Given the description of an element on the screen output the (x, y) to click on. 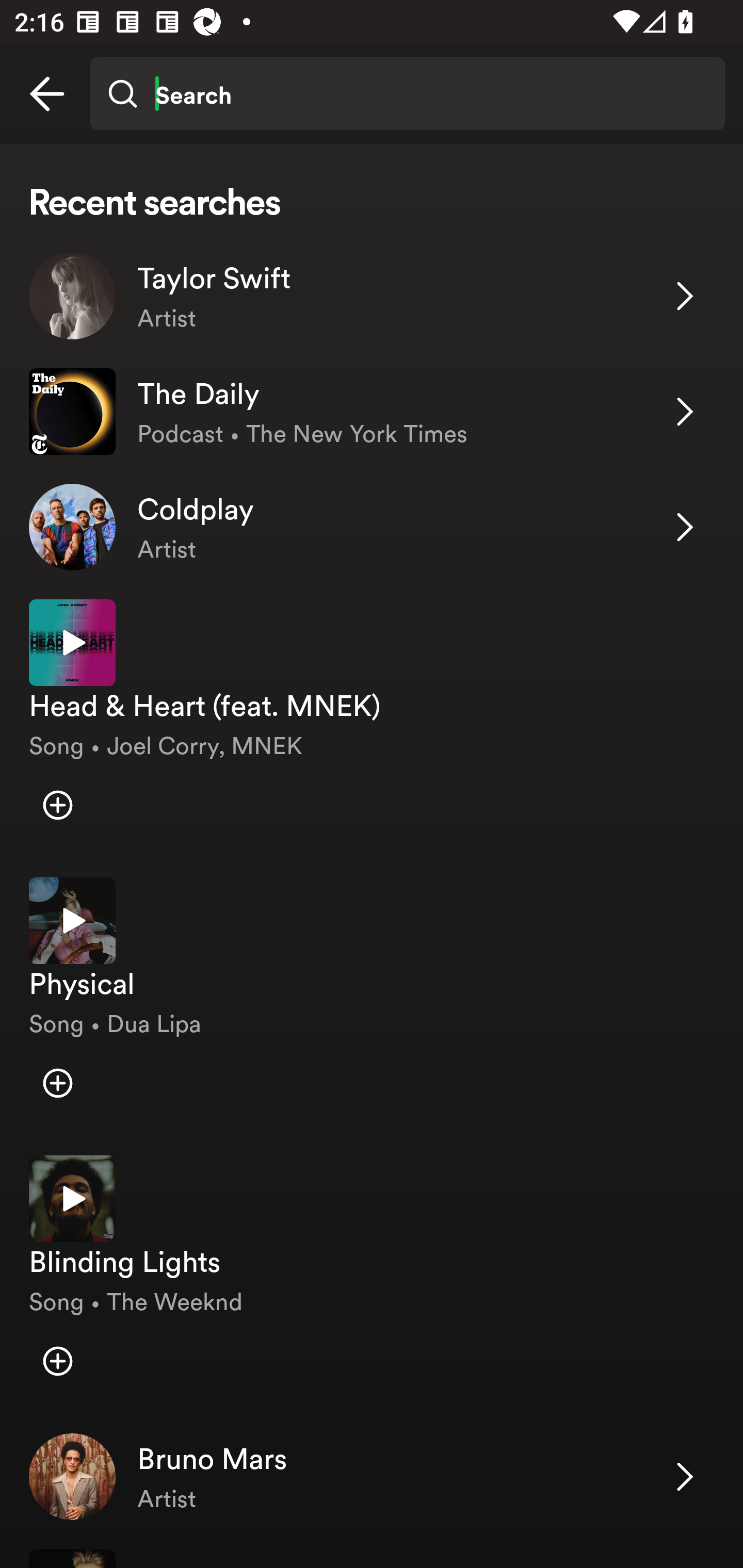
Back (46, 93)
Search (407, 94)
Taylor Swift Artist (371, 296)
The Daily Podcast • The New York Times (371, 411)
Coldplay Artist (371, 526)
Play preview (71, 642)
Add item (57, 805)
Play preview Physical Song • Dua Lipa Add item (371, 1001)
Play preview (71, 921)
Add item (57, 1082)
Play preview (71, 1198)
Add item (57, 1360)
Bruno Mars Artist (371, 1477)
